Given the description of an element on the screen output the (x, y) to click on. 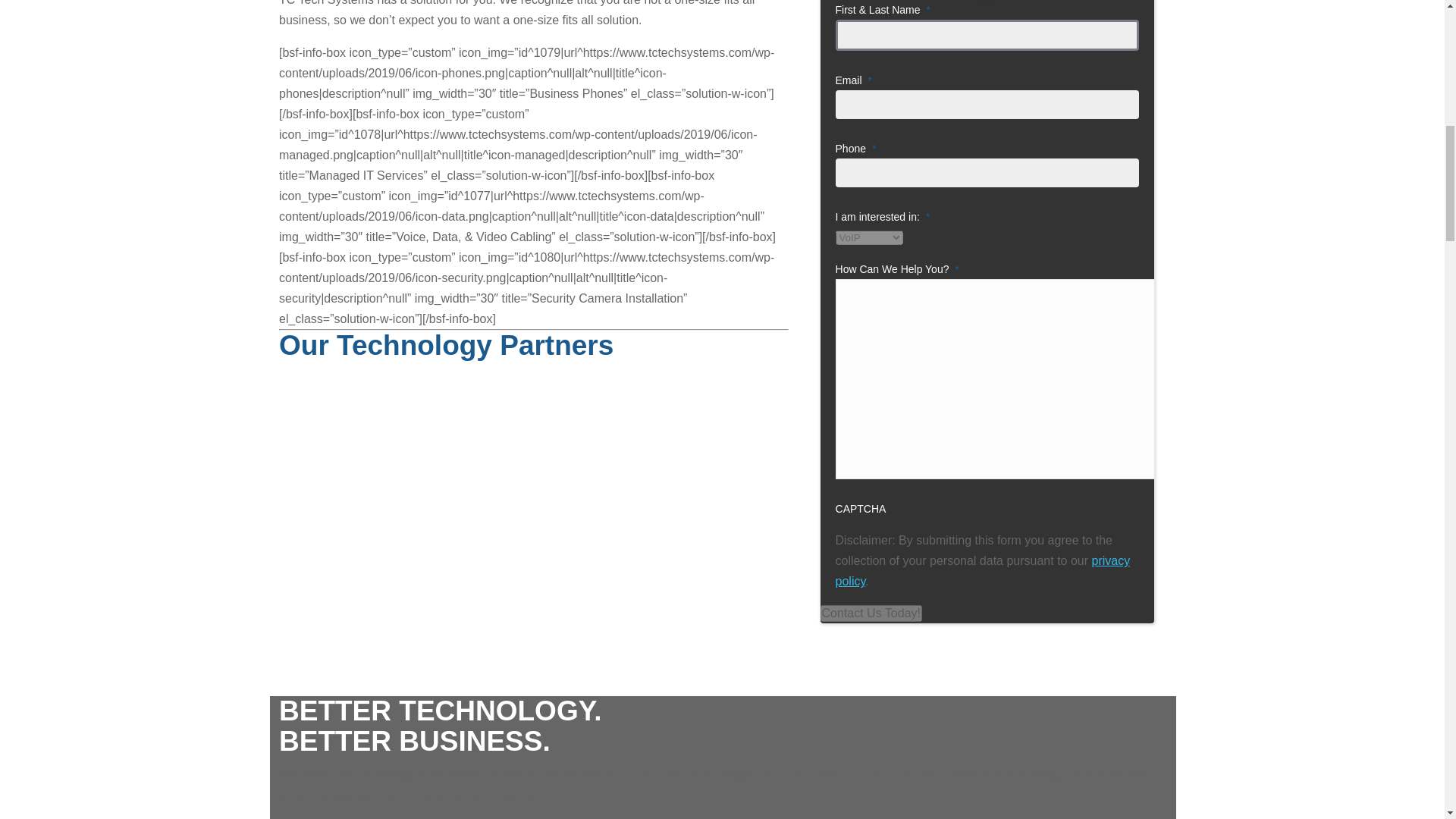
Contact Us Today! (871, 613)
microsoft logo (350, 376)
intronis logo (338, 450)
cisco (311, 557)
google logo (325, 412)
belden-logo-transparent (339, 600)
